Given the description of an element on the screen output the (x, y) to click on. 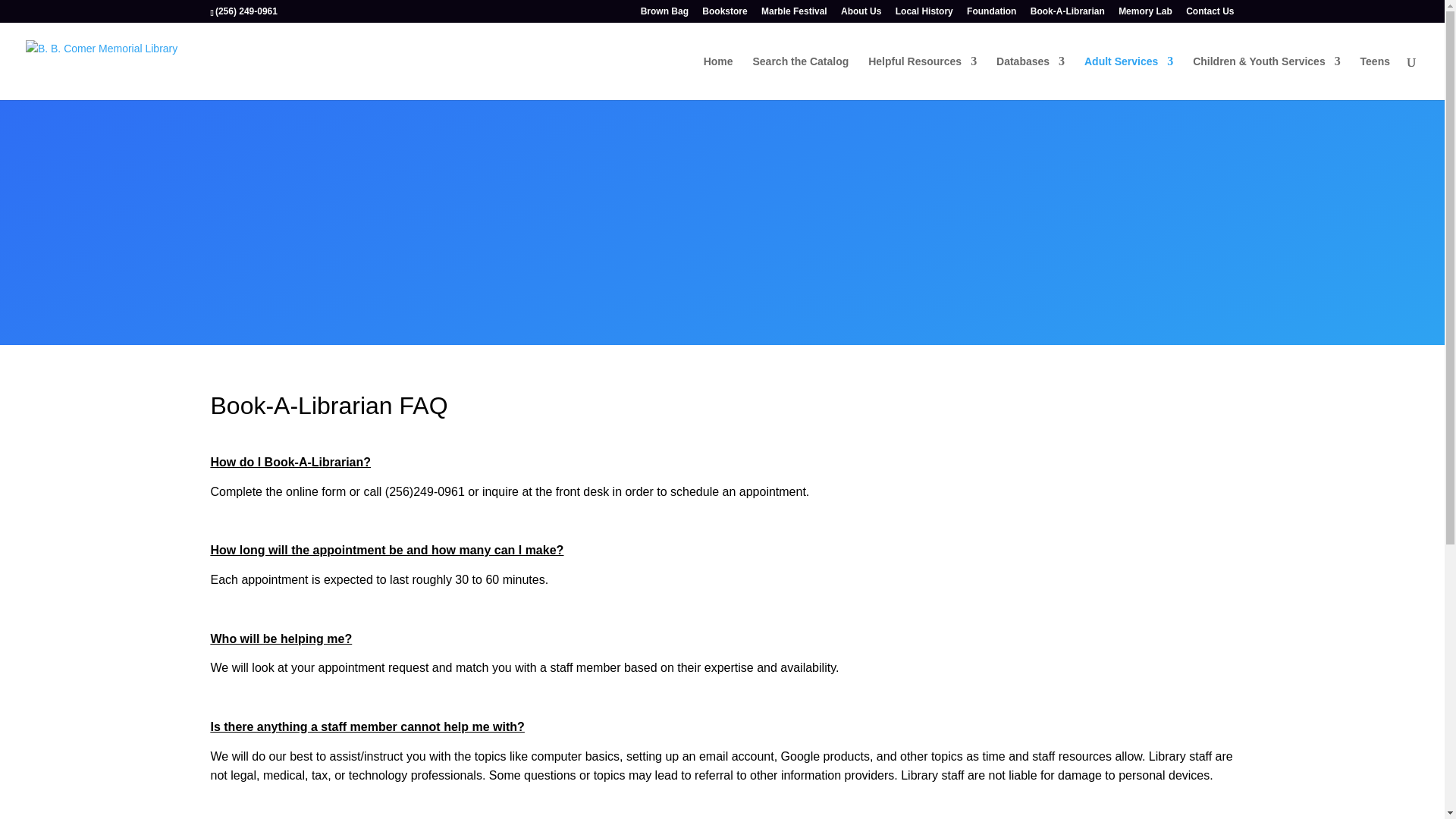
Marble Festival (794, 14)
Foundation (991, 14)
Local History (924, 14)
Brown Bag (664, 14)
Helpful Resources (921, 77)
About Us (860, 14)
Databases (1029, 77)
Book-A-Librarian (1067, 14)
Memory Lab (1145, 14)
Contact Us (1209, 14)
